Given the description of an element on the screen output the (x, y) to click on. 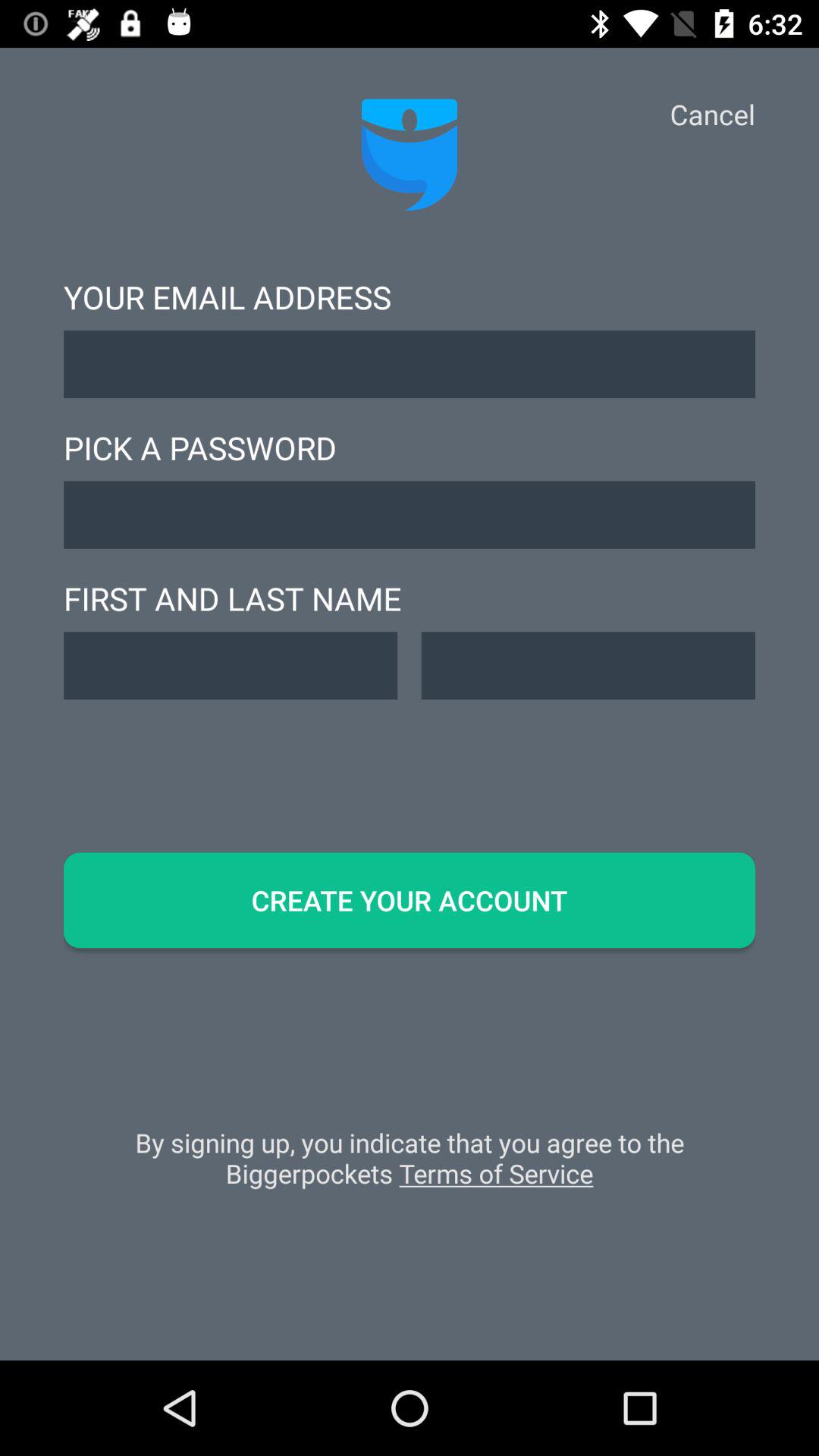
turn on the icon above by signing up item (409, 900)
